Given the description of an element on the screen output the (x, y) to click on. 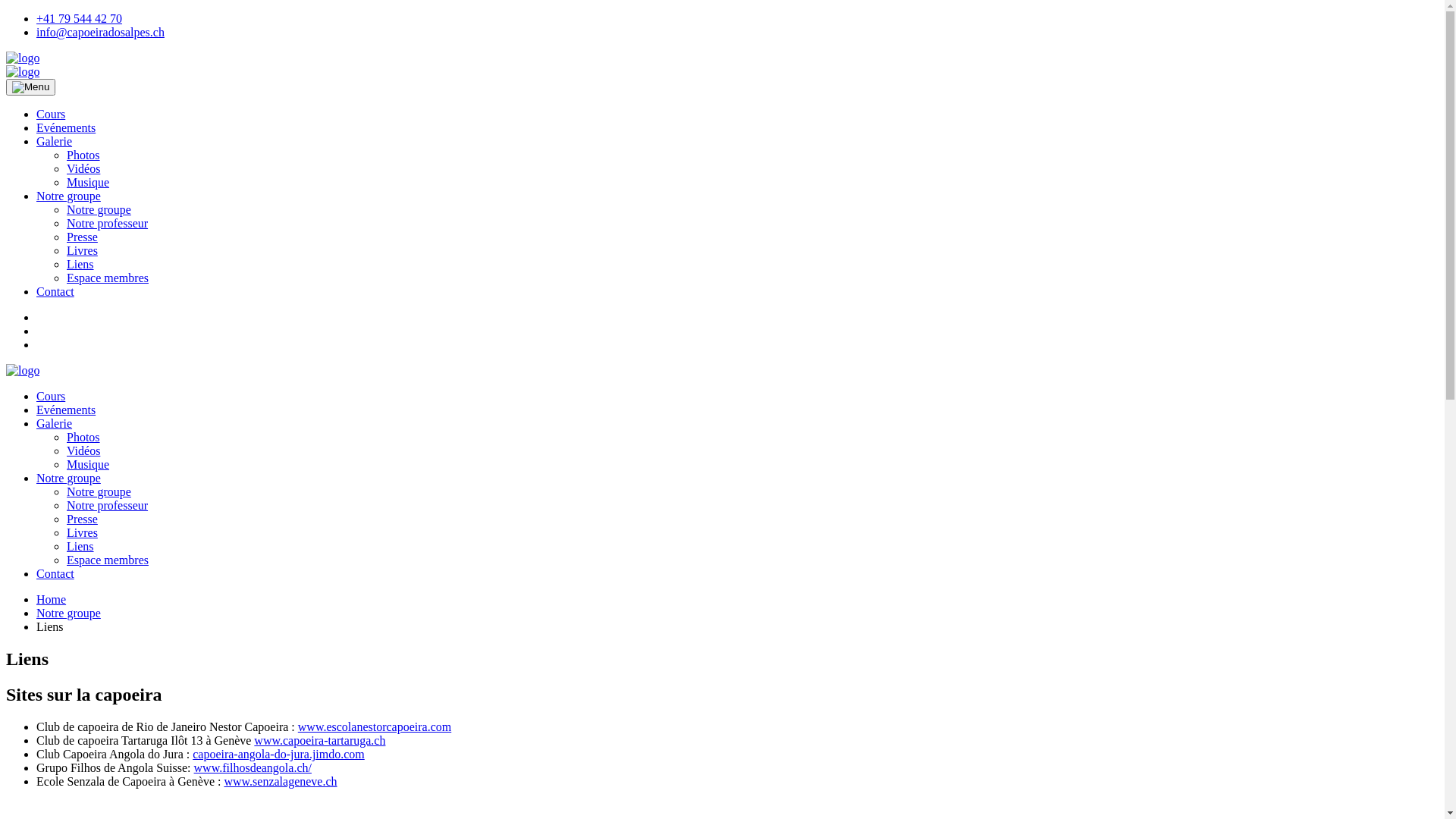
Espace membres Element type: text (107, 559)
Notre groupe Element type: text (68, 195)
capoeira-angola-do-jura.jimdo.com Element type: text (278, 753)
Notre groupe Element type: text (68, 612)
www.filhosdeangola.ch/ Element type: text (252, 767)
Contact Element type: text (55, 573)
Presse Element type: text (81, 518)
Logo Element type: hover (22, 370)
www.senzalageneve.ch Element type: text (279, 781)
Notre groupe Element type: text (98, 491)
Photos Element type: text (83, 154)
Liens Element type: text (80, 545)
Notre professeur Element type: text (106, 504)
Galerie Element type: text (54, 423)
Livres Element type: text (81, 532)
Contact Element type: text (55, 291)
Cours Element type: text (50, 113)
Liens Element type: text (80, 263)
www.escolanestorcapoeira.com Element type: text (374, 726)
Home Element type: text (50, 599)
Notre groupe Element type: text (68, 477)
Notre groupe Element type: text (98, 209)
www.capoeira-tartaruga.ch Element type: text (319, 740)
Galerie Element type: text (54, 140)
Presse Element type: text (81, 236)
Notre professeur Element type: text (106, 222)
Musique Element type: text (87, 181)
+41 79 544 42 70 Element type: text (79, 18)
Photos Element type: text (83, 436)
Espace membres Element type: text (107, 277)
Musique Element type: text (87, 464)
Logo Element type: hover (22, 71)
Logo Element type: hover (22, 58)
Livres Element type: text (81, 250)
info@capoeiradosalpes.ch Element type: text (100, 31)
Cours Element type: text (50, 395)
